Given the description of an element on the screen output the (x, y) to click on. 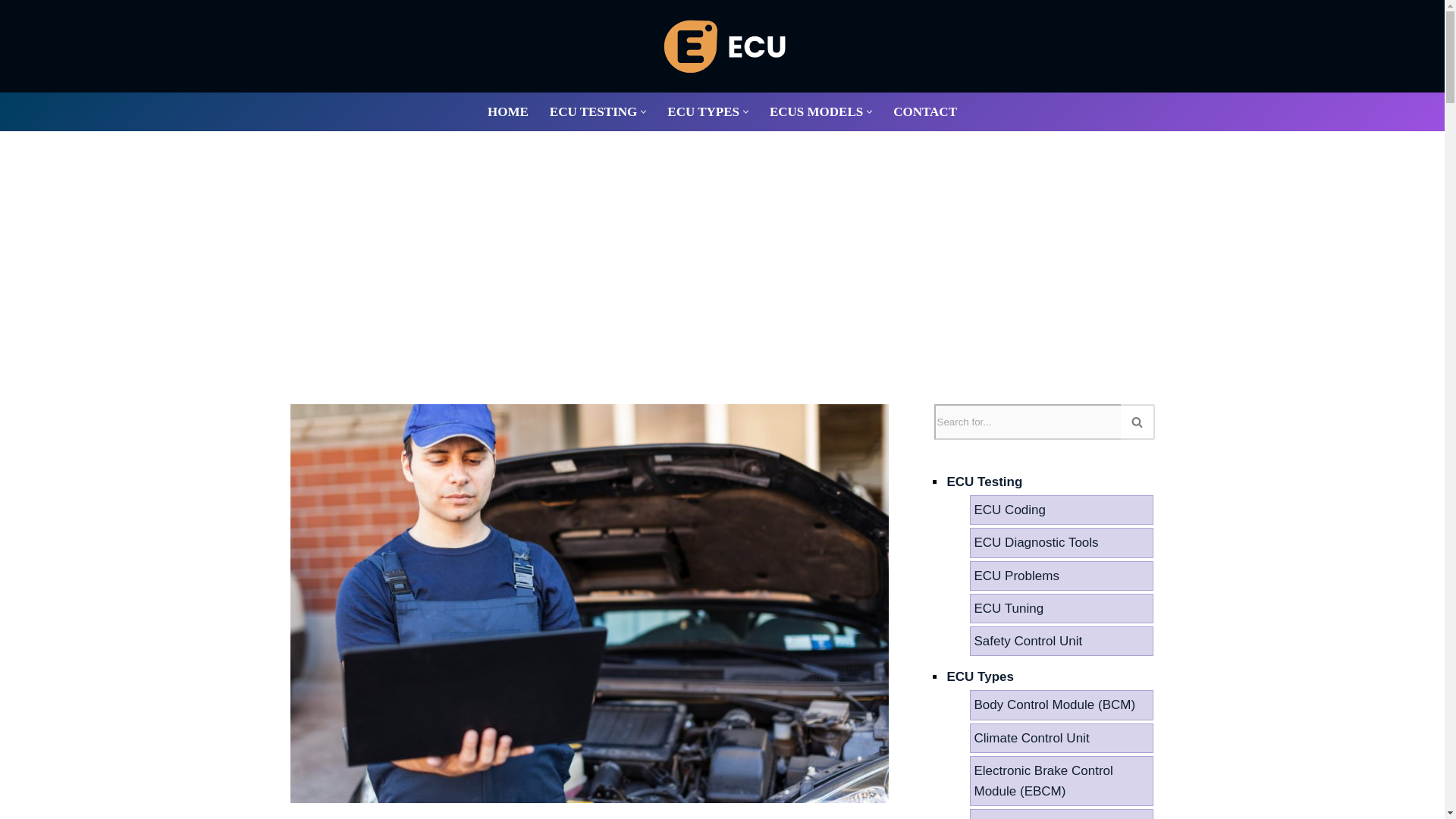
ECU TESTING (593, 111)
CONTACT (924, 111)
HOME (507, 111)
Skip to content (11, 31)
ECU TYPES (702, 111)
ECUS MODELS (816, 111)
